Given the description of an element on the screen output the (x, y) to click on. 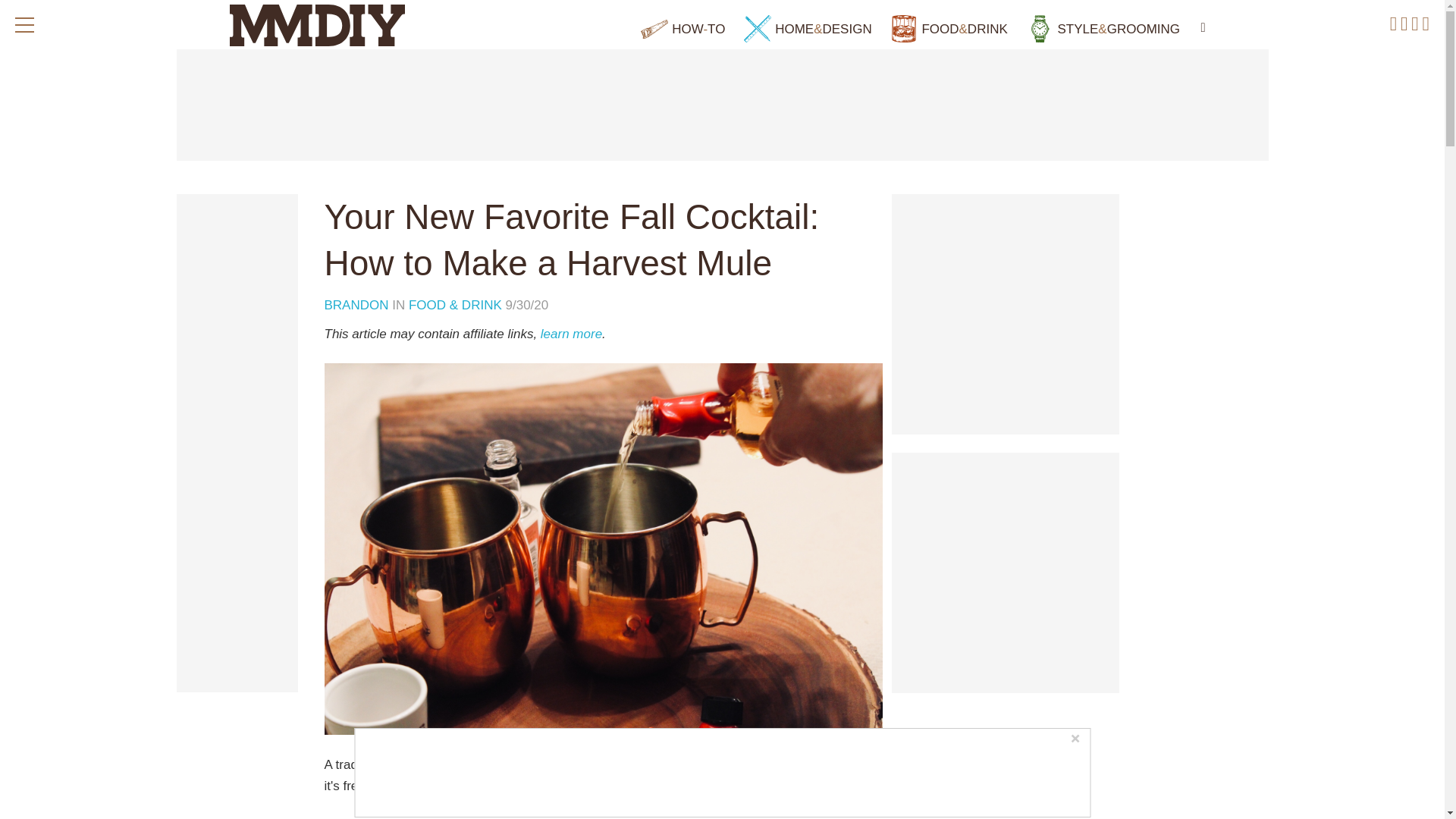
BRANDON (358, 305)
HOW-TO (682, 28)
learn more (571, 333)
